Given the description of an element on the screen output the (x, y) to click on. 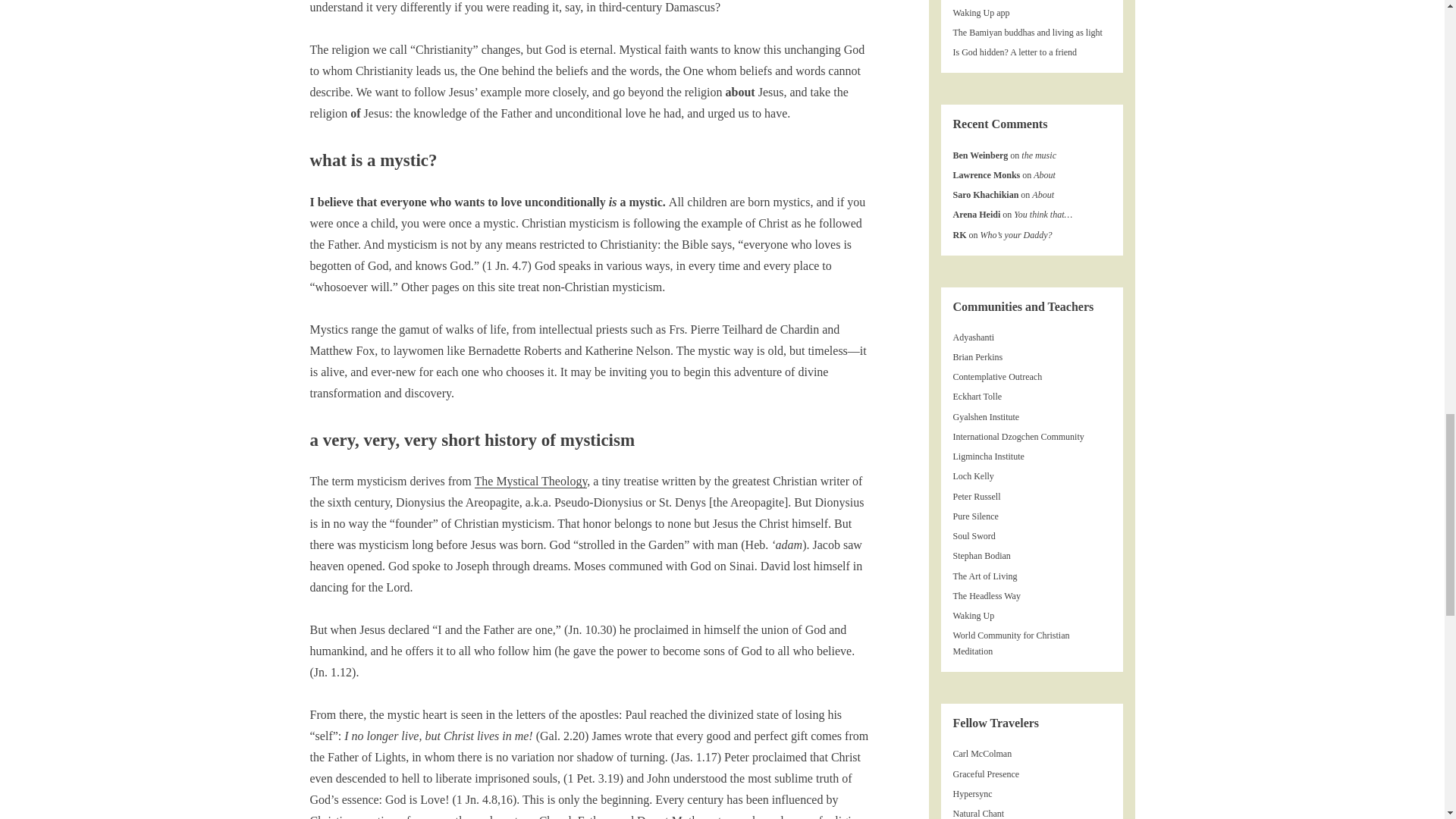
The Mystical Theology (531, 481)
